Given the description of an element on the screen output the (x, y) to click on. 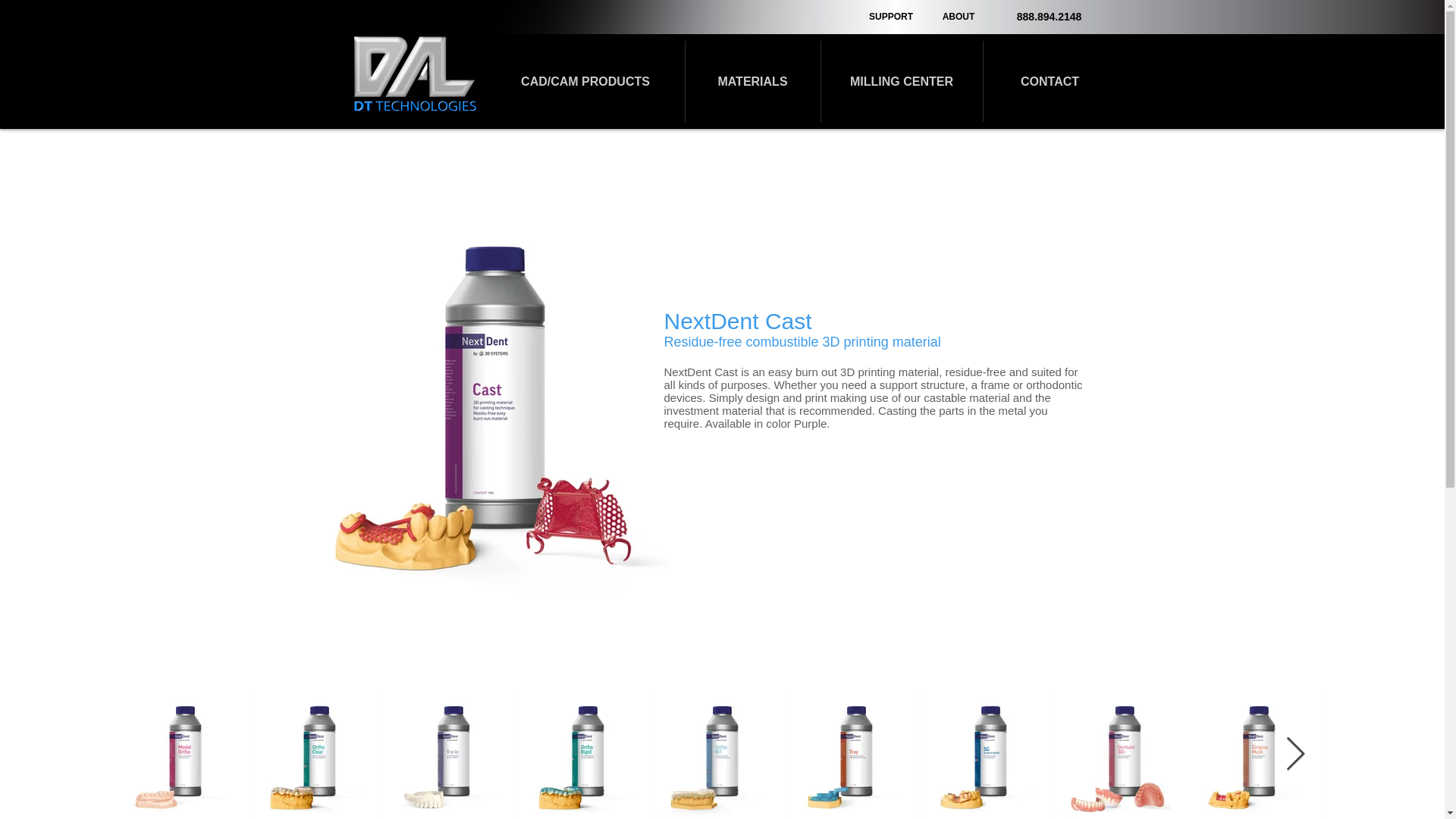
SUPPORT (890, 17)
MATERIALS (753, 81)
CONTACT (1049, 81)
888.894.2148 (1048, 17)
ABOUT (958, 17)
SUPPORT (954, 17)
DAL DT Technologies (414, 73)
MILLING CENTER (901, 81)
